Given the description of an element on the screen output the (x, y) to click on. 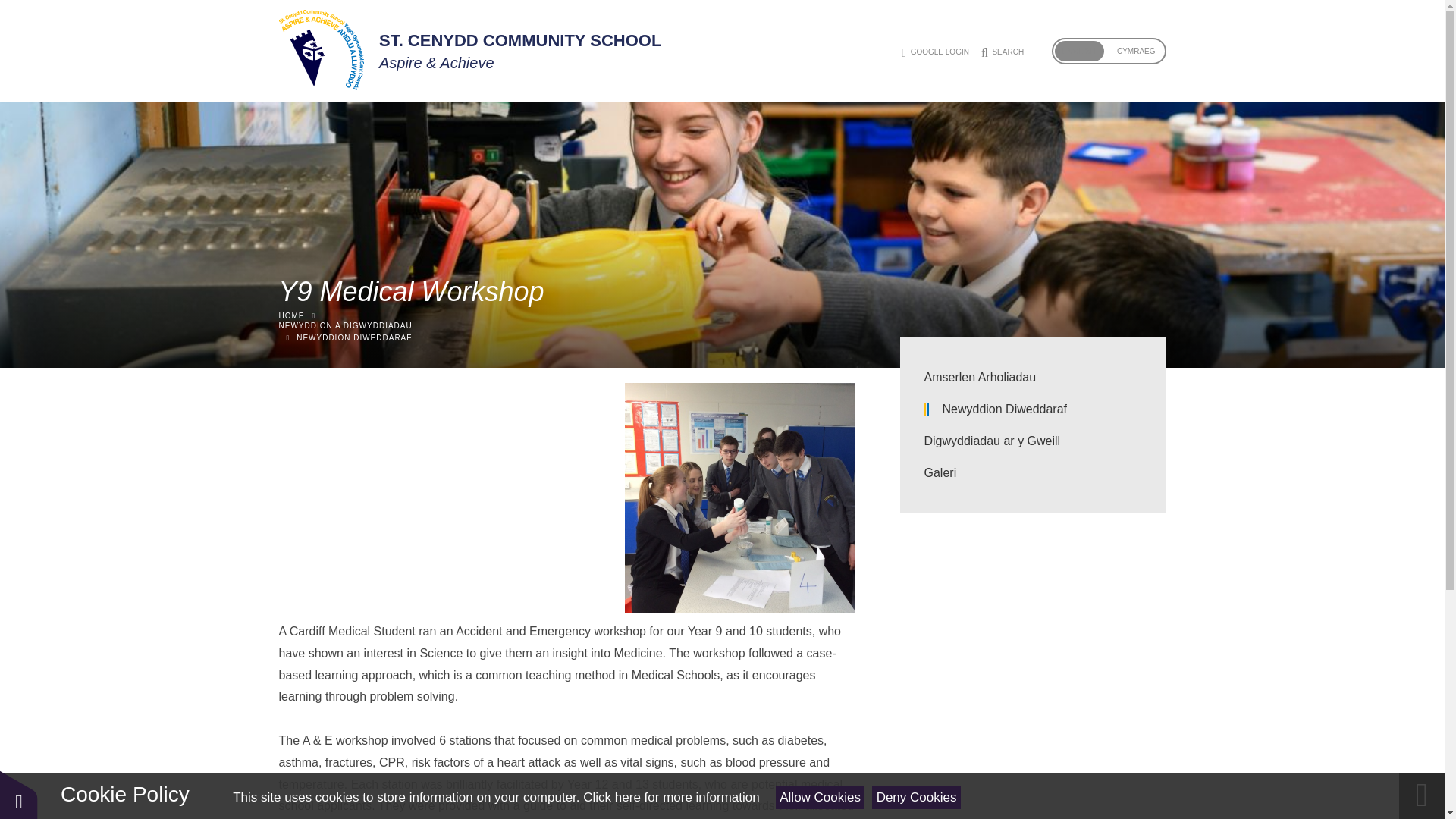
Deny Cookies (915, 797)
Click here for more information (670, 797)
HOME (291, 316)
ENGLISH (1078, 51)
Digwyddiadau ar y Gweill (1032, 441)
See cookie policy (670, 797)
Newyddion Diweddaraf (1041, 409)
Amserlen Arholiadau (1032, 377)
Google Login (935, 51)
NEWYDDION A DIGWYDDIADAU (722, 336)
